Given the description of an element on the screen output the (x, y) to click on. 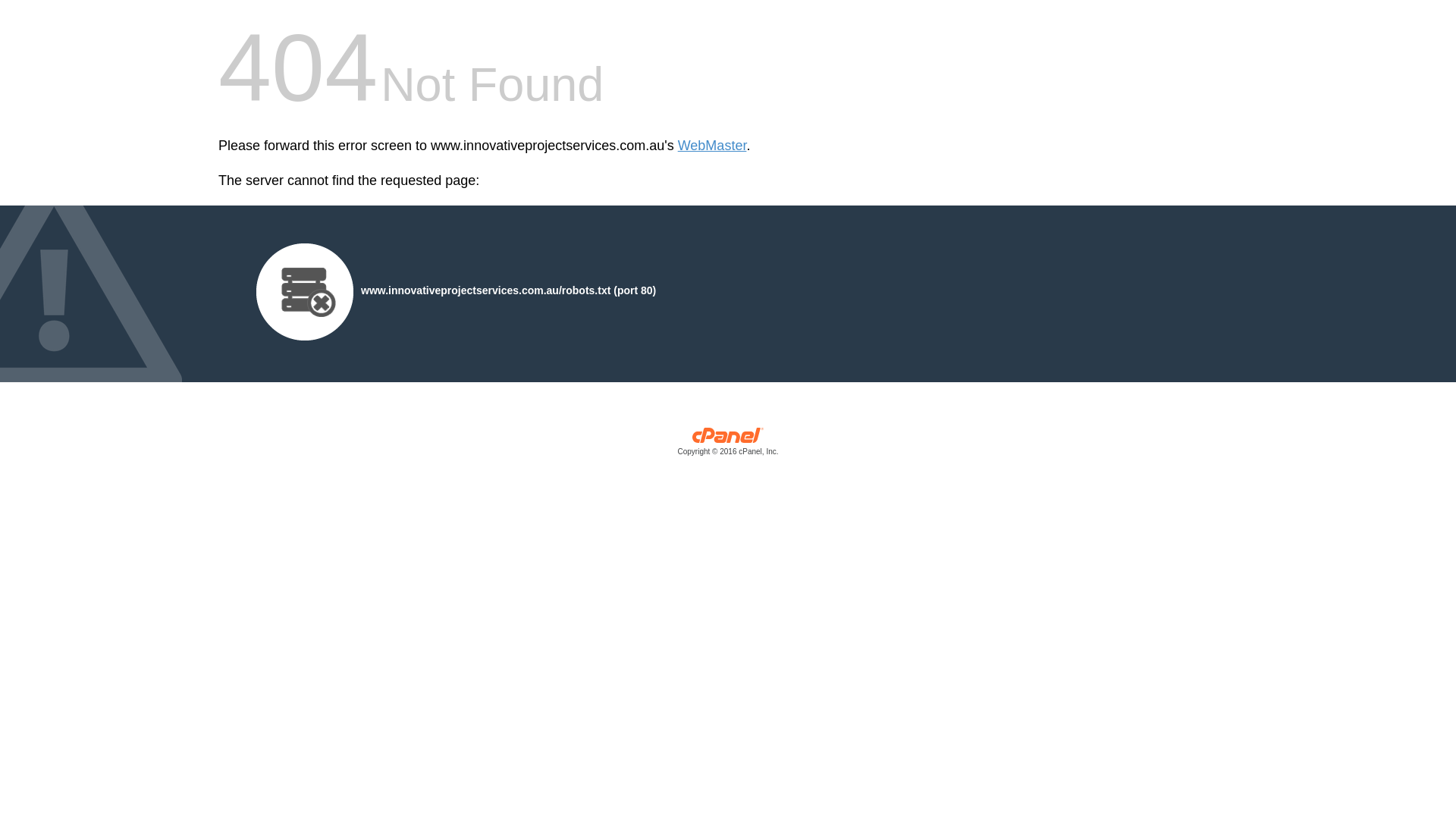
WebMaster Element type: text (711, 145)
